Given the description of an element on the screen output the (x, y) to click on. 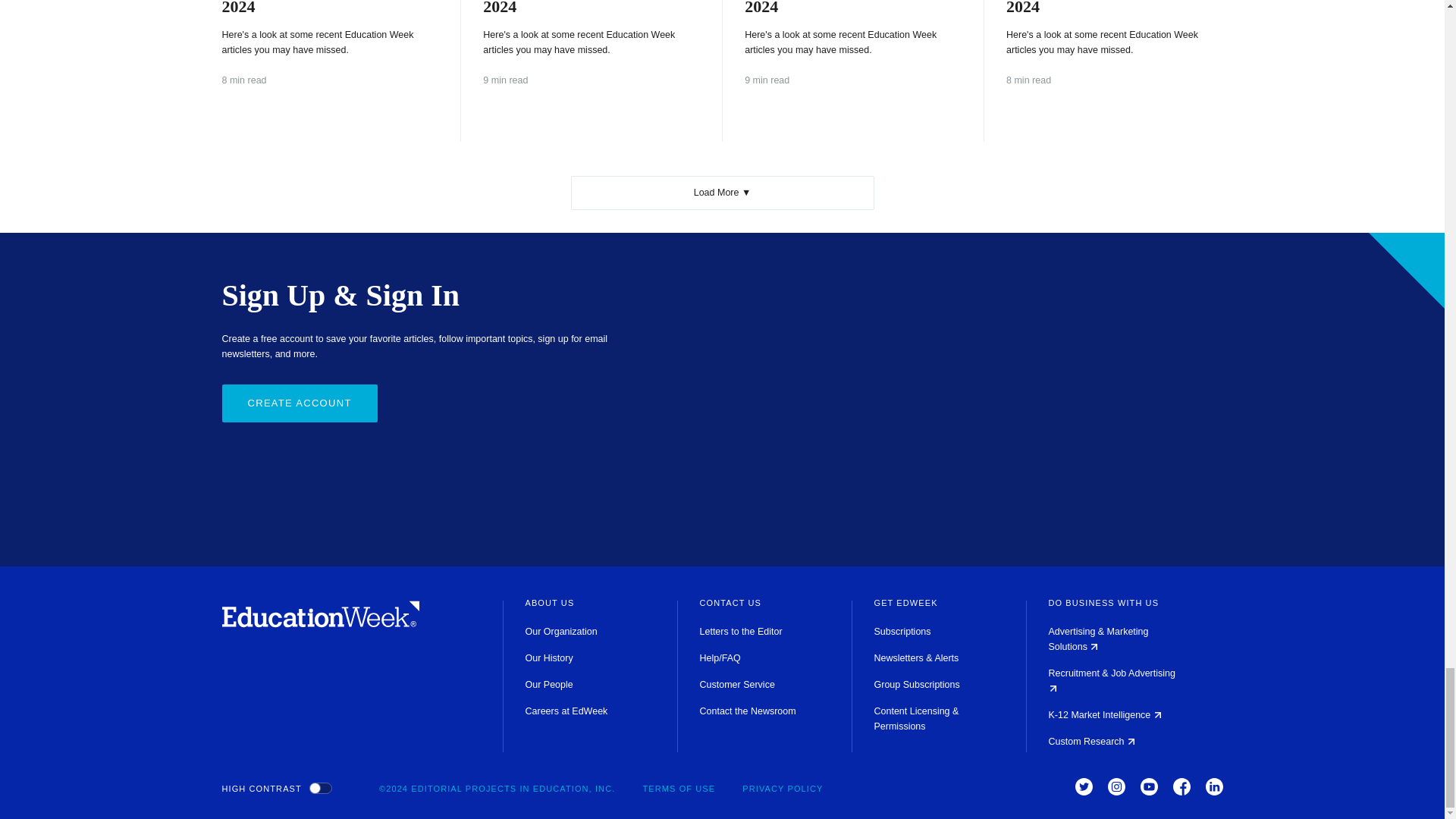
Homepage (320, 623)
